Given the description of an element on the screen output the (x, y) to click on. 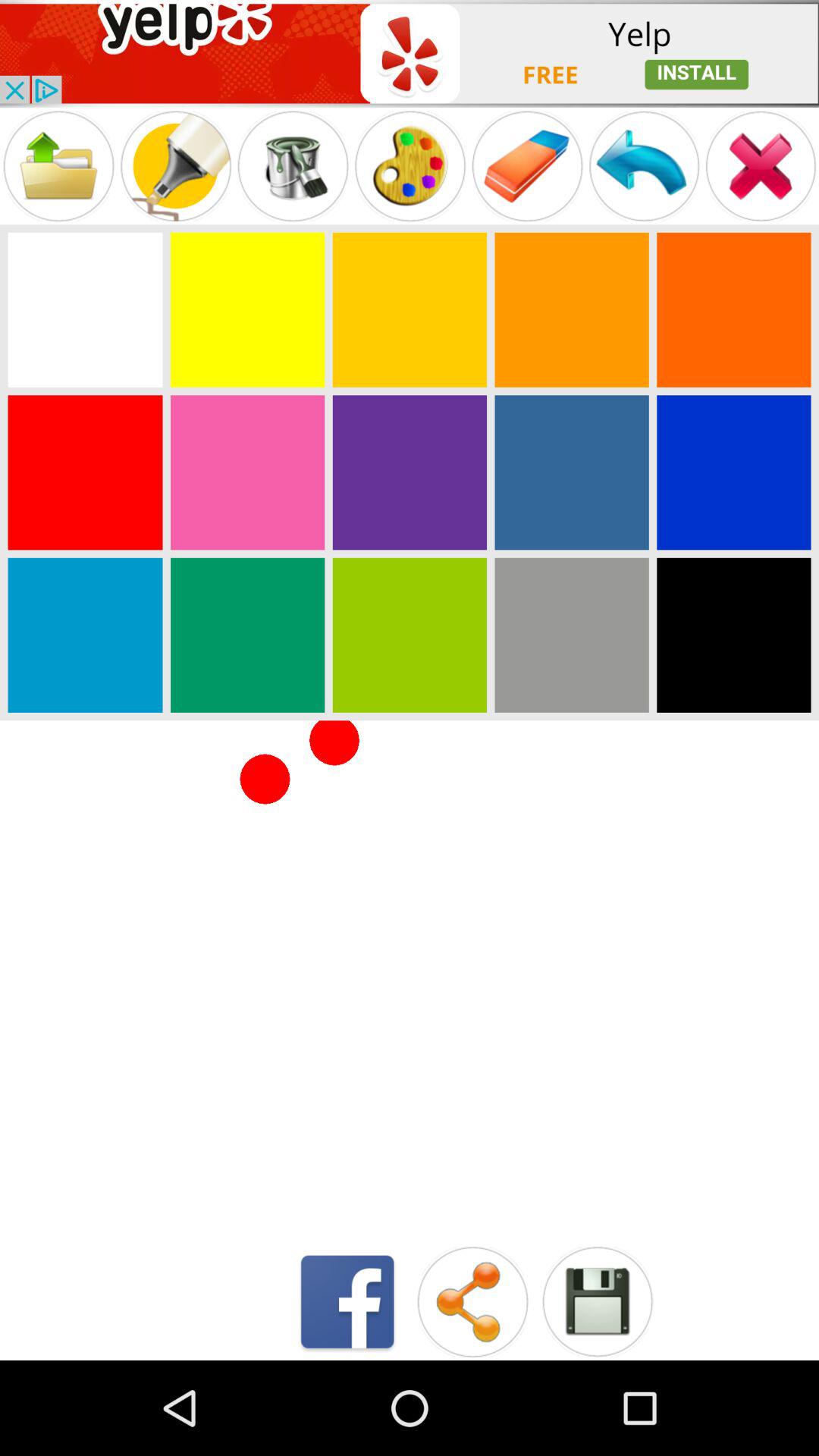
switch to close (760, 165)
